Given the description of an element on the screen output the (x, y) to click on. 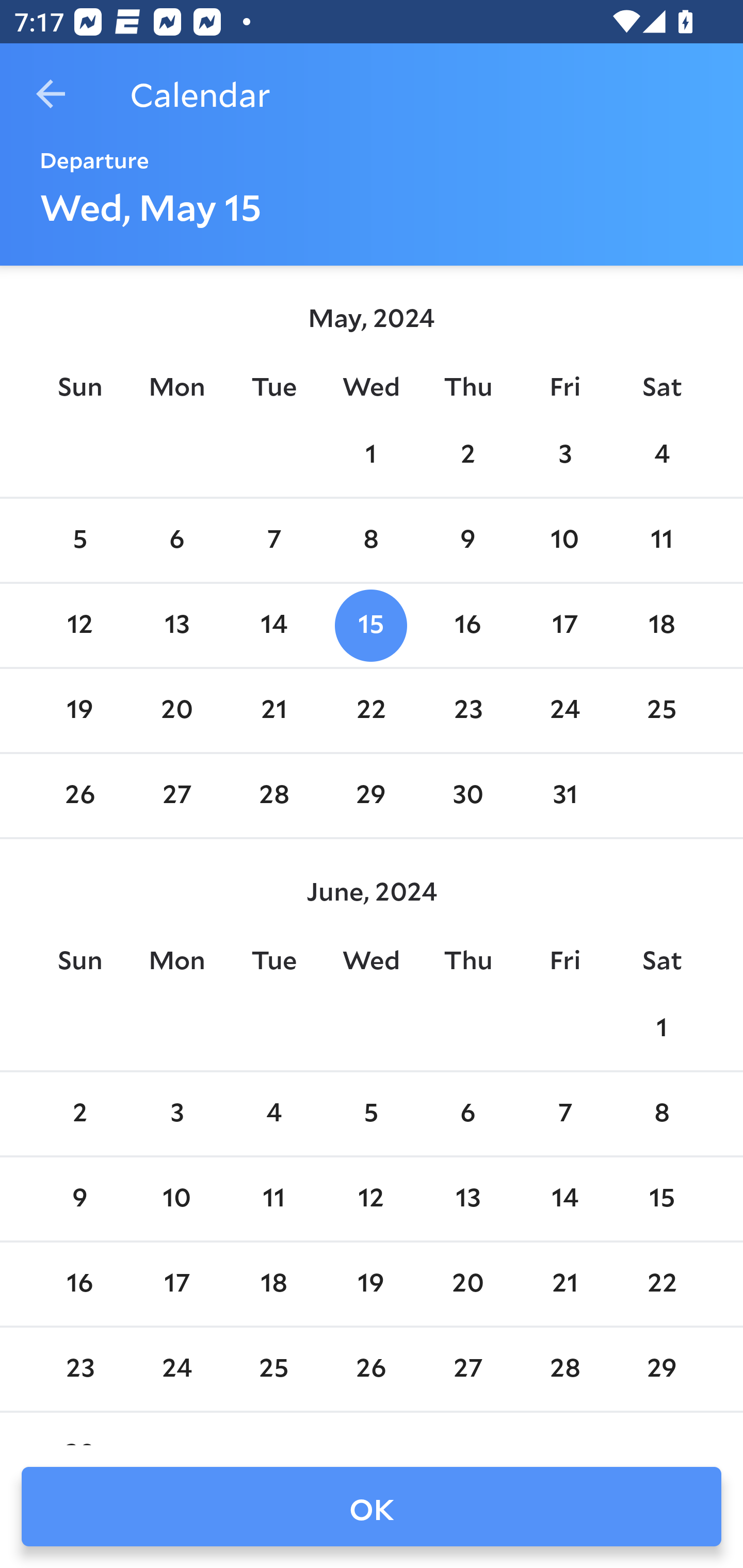
Navigate up (50, 93)
1 (371, 454)
2 (467, 454)
3 (565, 454)
4 (661, 454)
5 (79, 540)
6 (177, 540)
7 (273, 540)
8 (371, 540)
9 (467, 540)
10 (565, 540)
11 (661, 540)
12 (79, 625)
13 (177, 625)
14 (273, 625)
15 (371, 625)
16 (467, 625)
17 (565, 625)
18 (661, 625)
19 (79, 710)
20 (177, 710)
21 (273, 710)
22 (371, 710)
23 (467, 710)
24 (565, 710)
25 (661, 710)
26 (79, 796)
27 (177, 796)
28 (273, 796)
29 (371, 796)
30 (467, 796)
31 (565, 796)
1 (661, 1028)
2 (79, 1114)
3 (177, 1114)
4 (273, 1114)
5 (371, 1114)
6 (467, 1114)
7 (565, 1114)
8 (661, 1114)
9 (79, 1199)
10 (177, 1199)
11 (273, 1199)
12 (371, 1199)
13 (467, 1199)
14 (565, 1199)
15 (661, 1199)
16 (79, 1284)
17 (177, 1284)
18 (273, 1284)
